Given the description of an element on the screen output the (x, y) to click on. 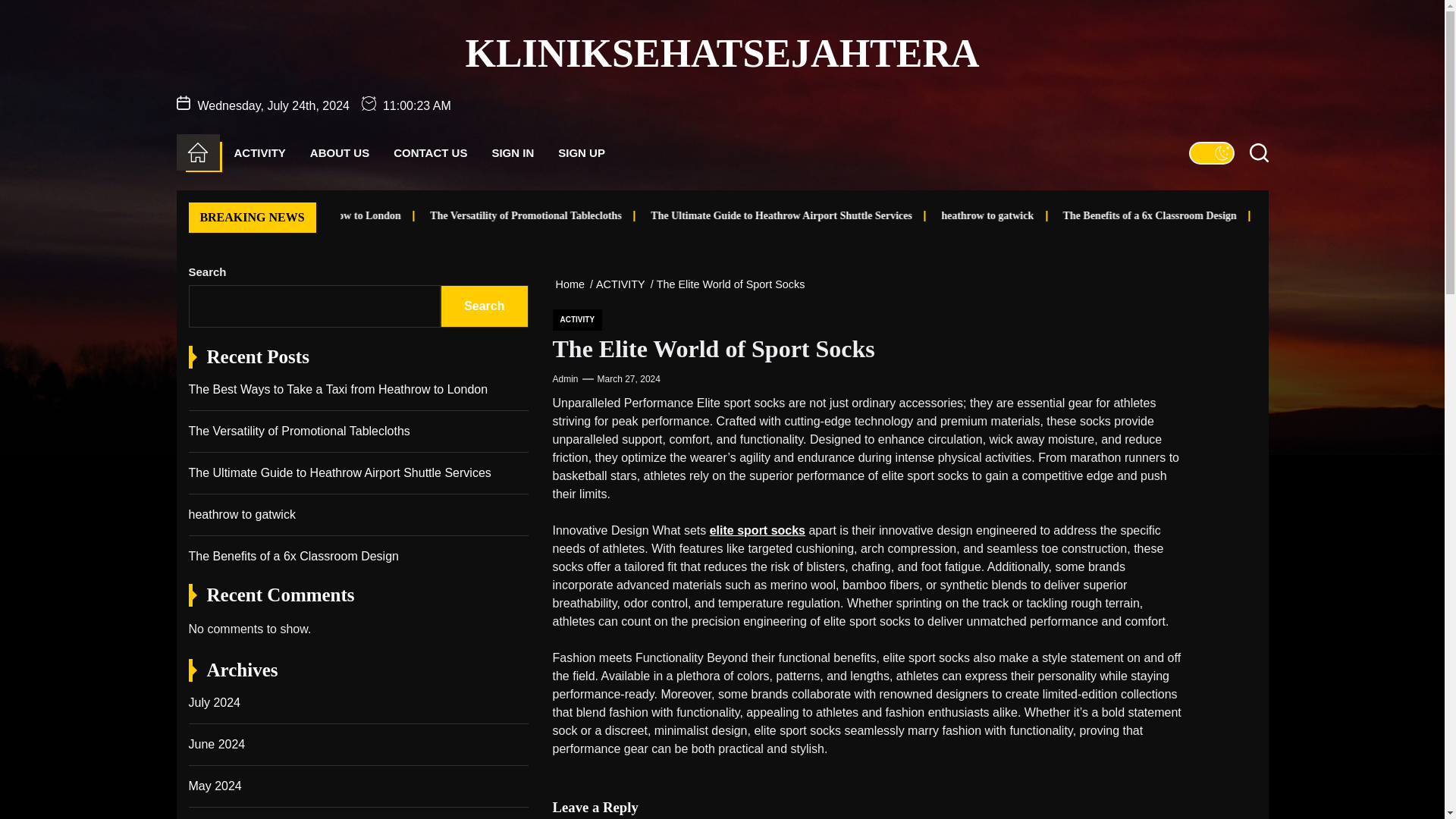
KLINIKSEHATSEJAHTERA (721, 53)
SIGN IN (513, 153)
Home (571, 284)
The Best Ways to Take a Taxi from Heathrow to London (396, 215)
The Best Ways to Take a Taxi from Heathrow to London (450, 215)
ACTIVITY (576, 319)
ABOUT US (339, 153)
heathrow to gatwick (1105, 215)
The Benefits of a 6x Classroom Design (1320, 215)
The Ultimate Guide to Heathrow Airport Shuttle Services (901, 215)
The Versatility of Promotional Tablecloths (701, 215)
Home (197, 152)
March 27, 2024 (628, 379)
ACTIVITY (258, 153)
ACTIVITY (622, 284)
